Given the description of an element on the screen output the (x, y) to click on. 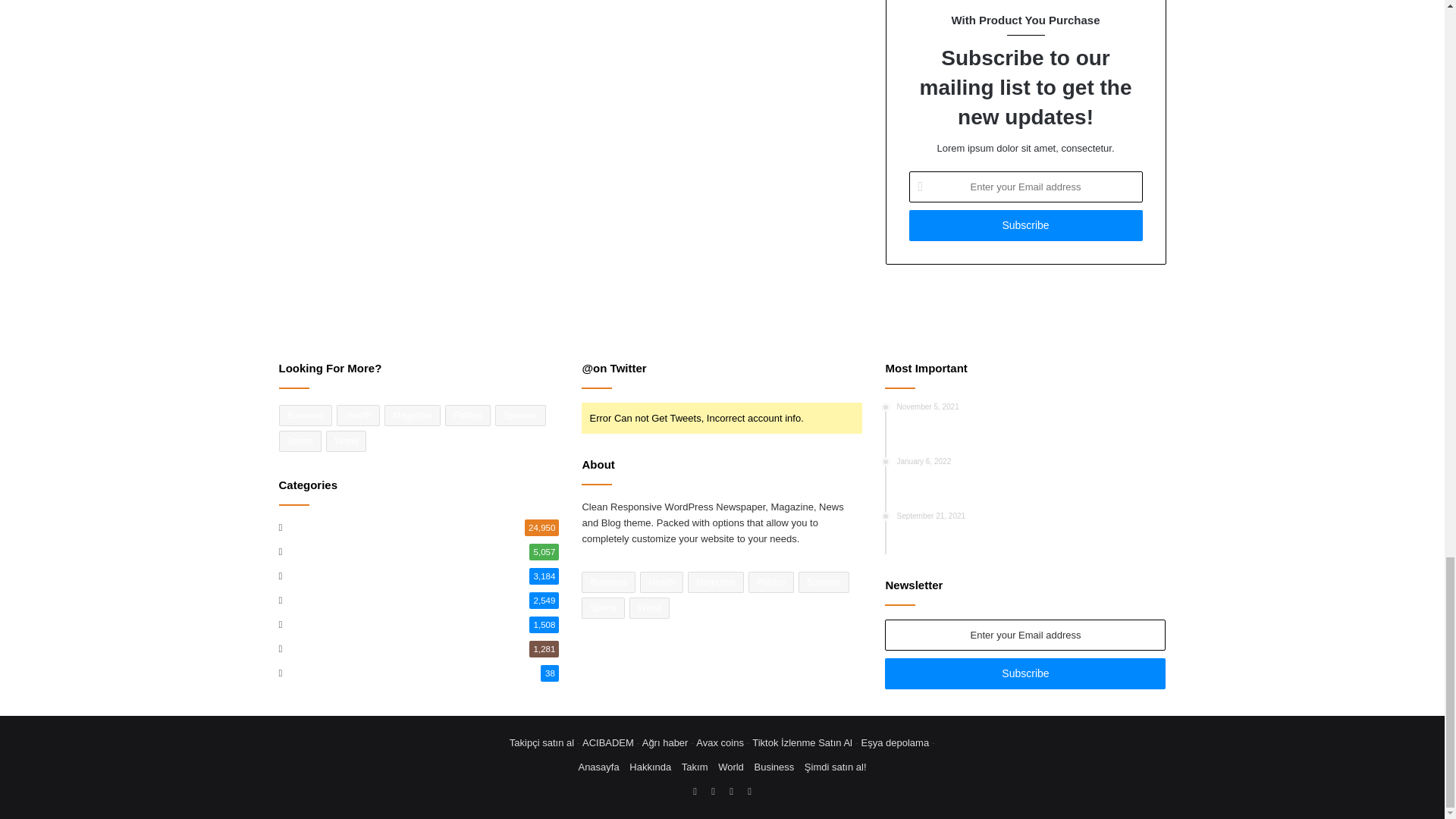
Subscribe (1025, 224)
Subscribe (1025, 673)
